Given the description of an element on the screen output the (x, y) to click on. 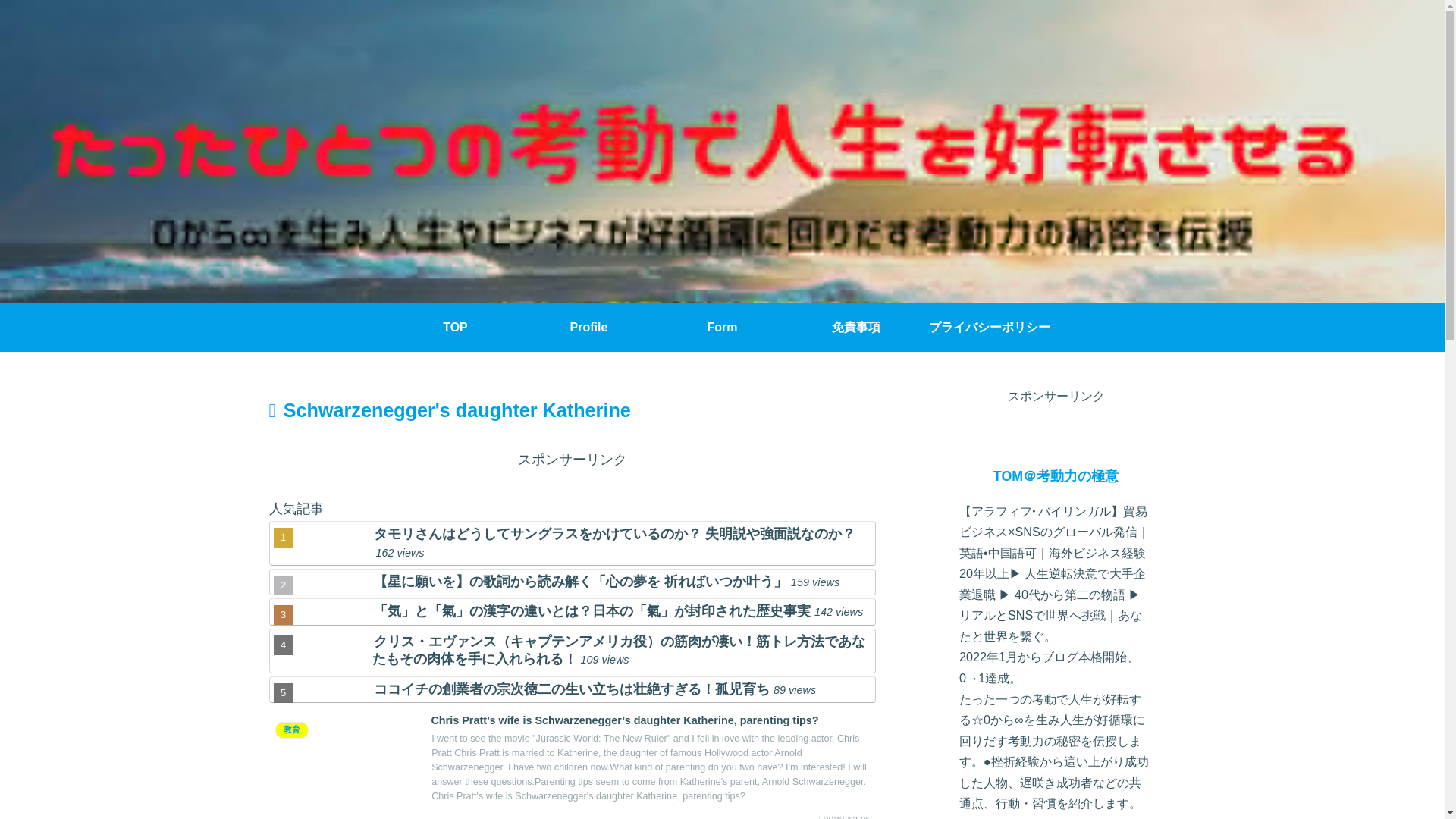
TOP (454, 327)
Profile (588, 327)
Form (722, 327)
